Given the description of an element on the screen output the (x, y) to click on. 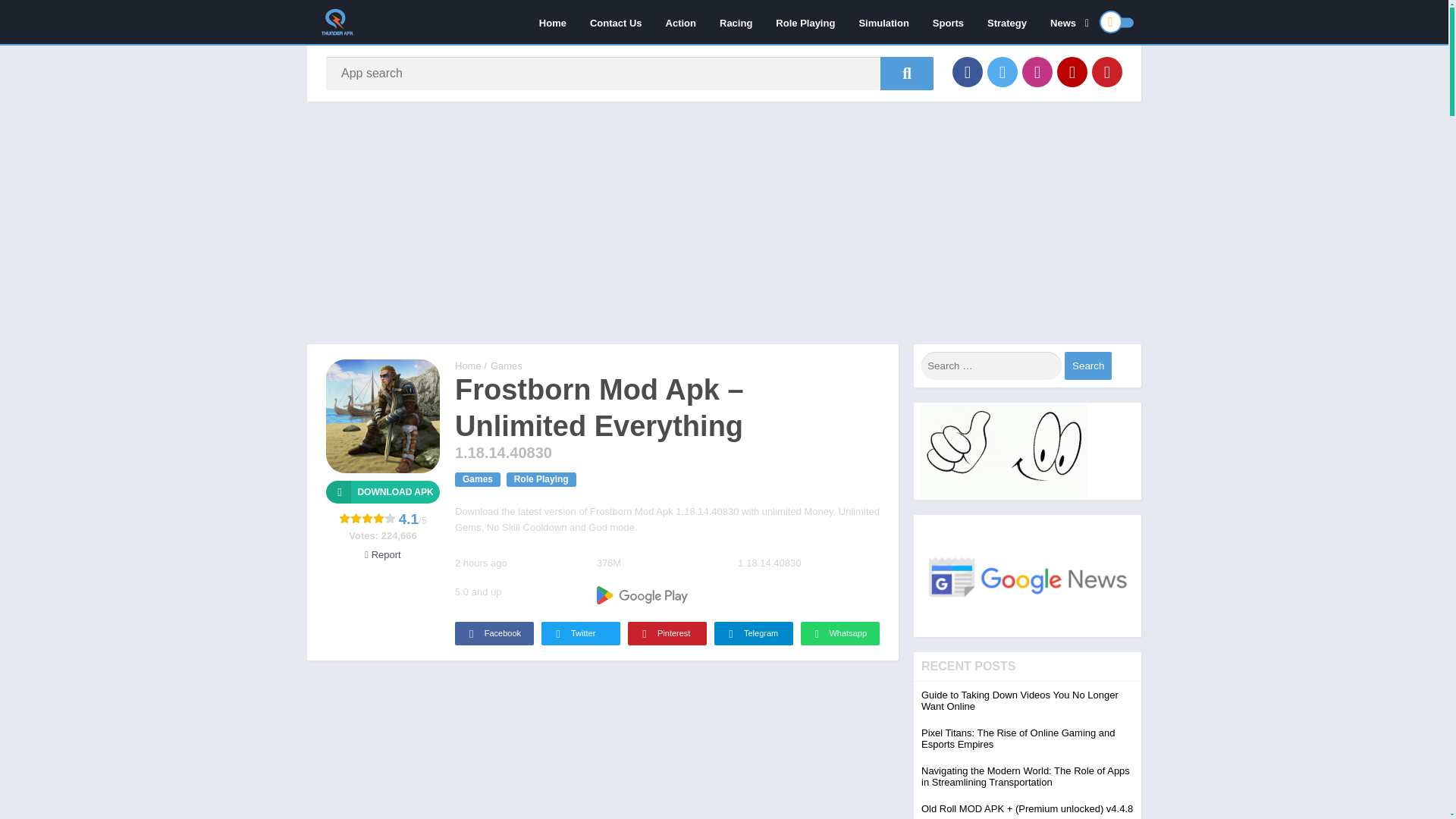
Search (1088, 366)
App search (906, 73)
Racing (734, 22)
Contact Us (615, 22)
Thunder APK (467, 365)
Search (1088, 366)
Pinterest (1107, 71)
Twitter (1002, 71)
Strategy (1006, 22)
Home (552, 22)
